Given the description of an element on the screen output the (x, y) to click on. 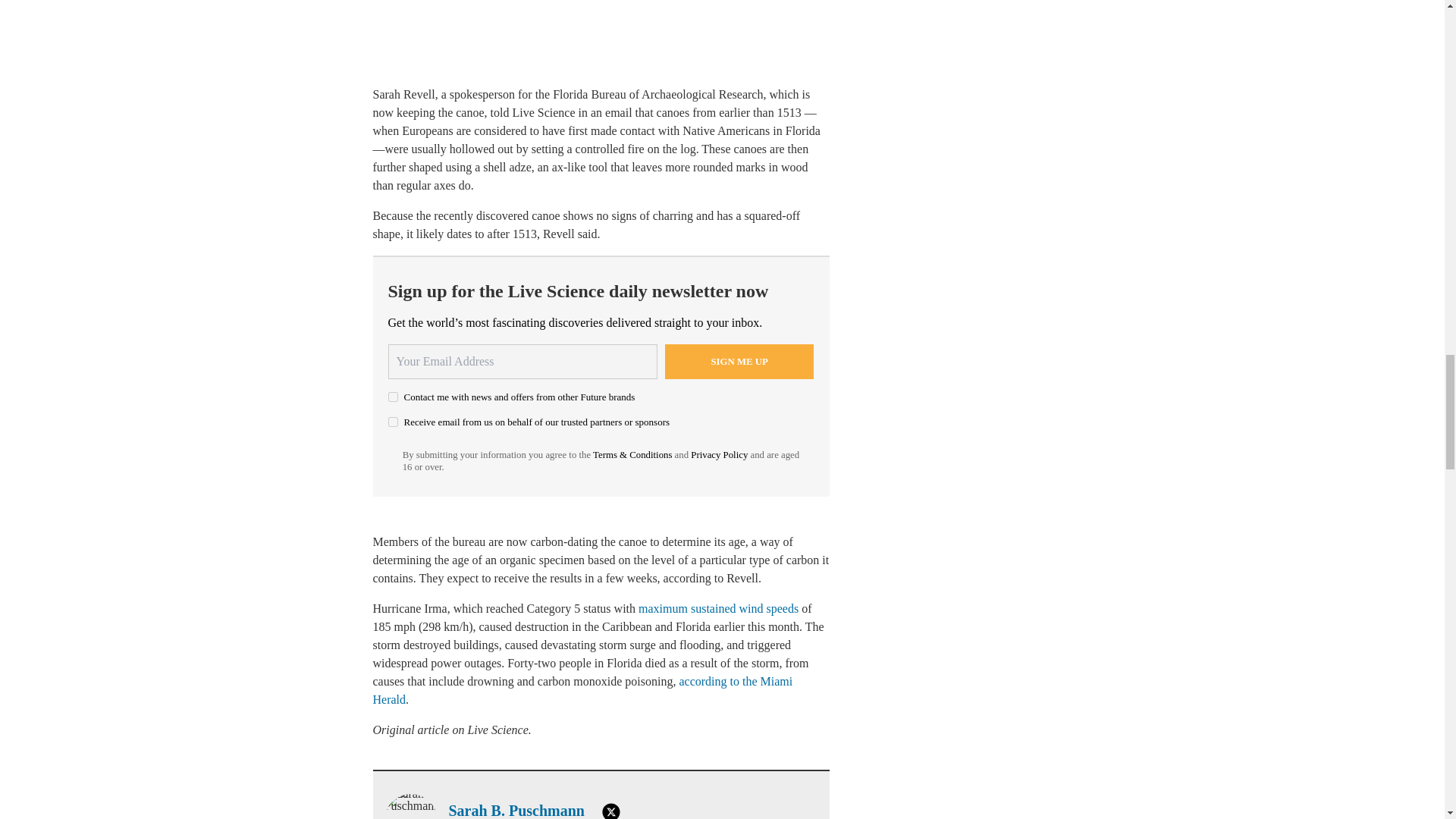
on (392, 397)
Sign me up (739, 361)
on (392, 421)
